Given the description of an element on the screen output the (x, y) to click on. 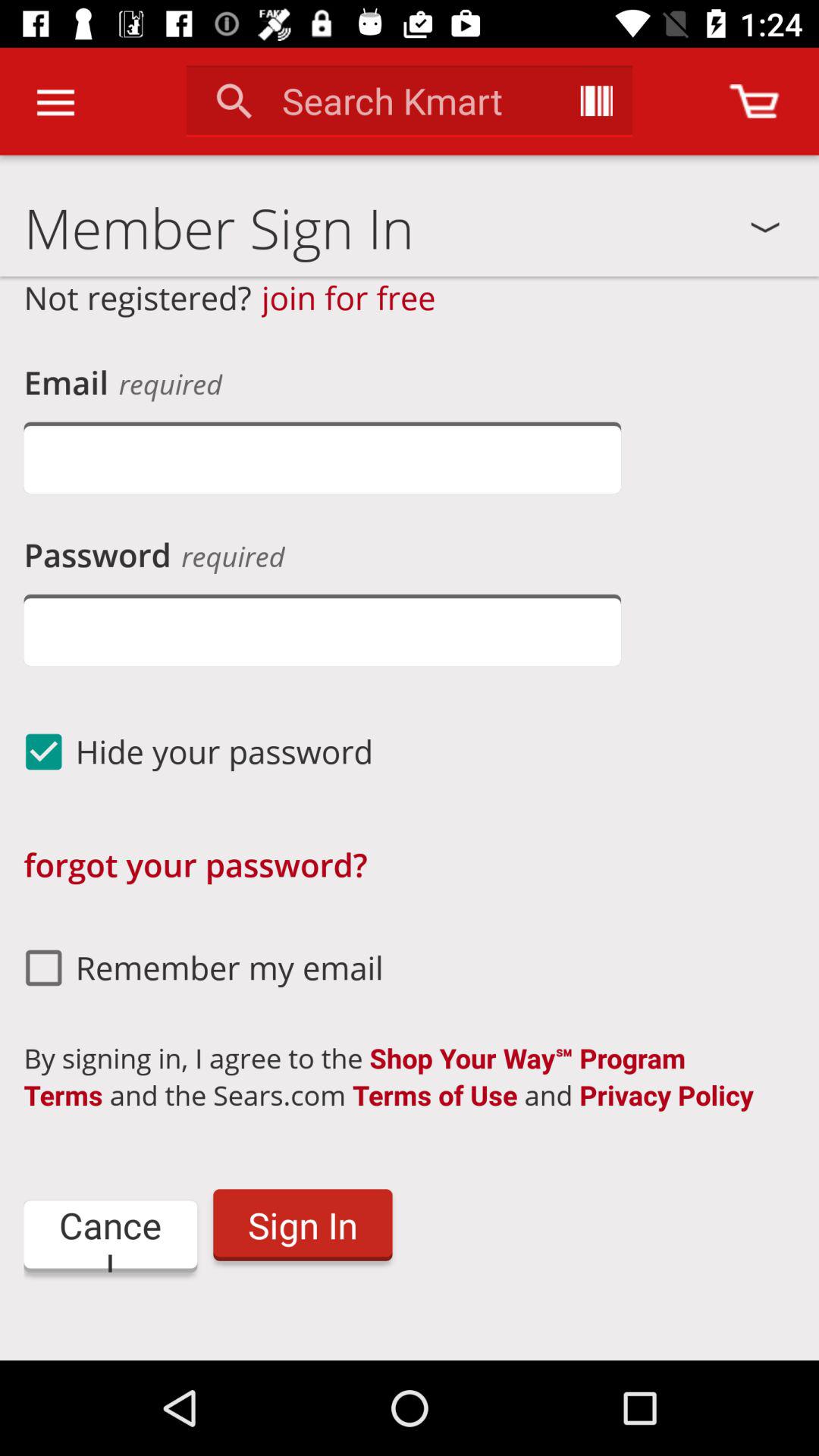
click to enter email (322, 457)
